Given the description of an element on the screen output the (x, y) to click on. 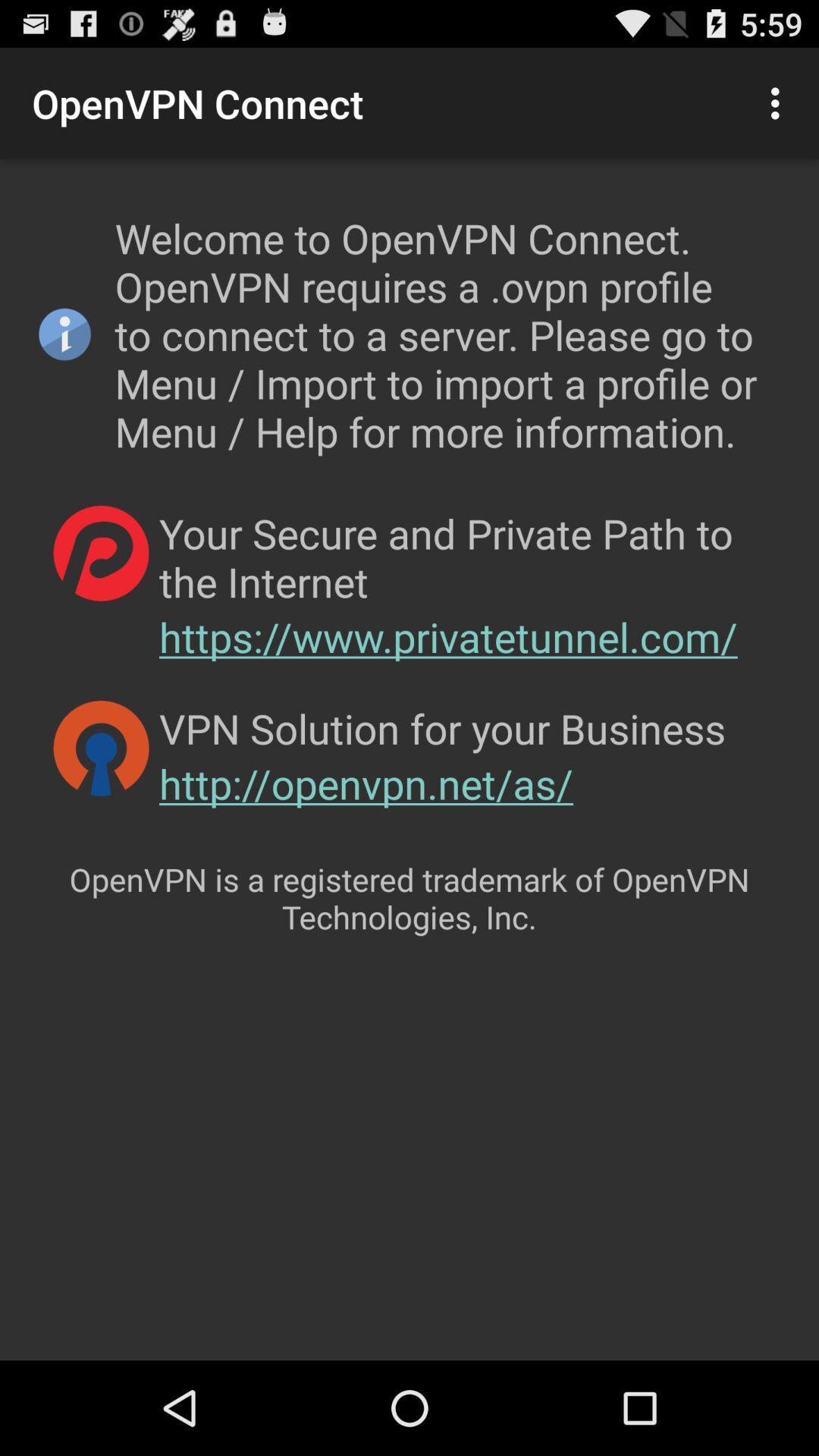
press item at the top right corner (779, 103)
